Given the description of an element on the screen output the (x, y) to click on. 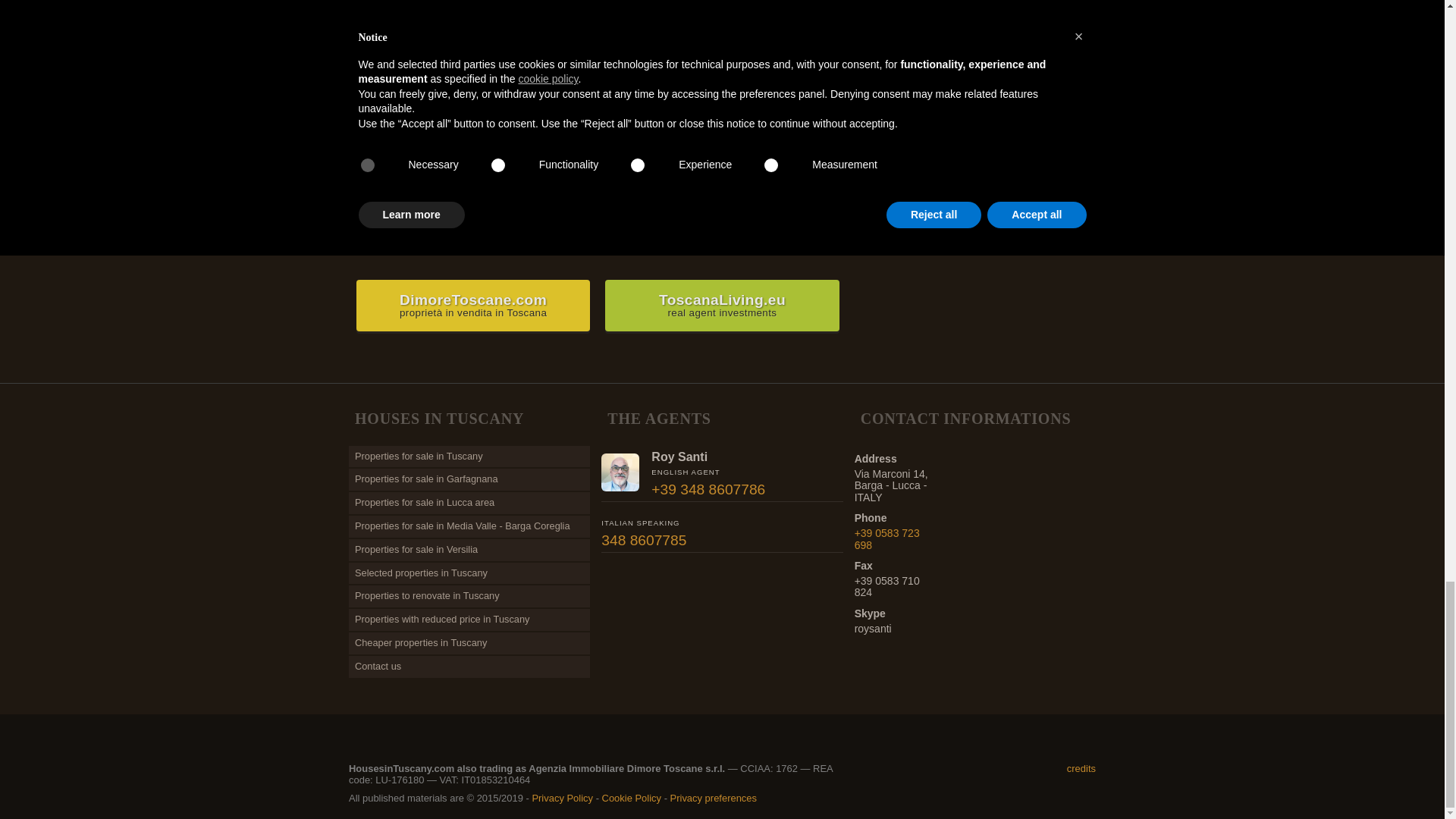
Selected properties in Tuscany (469, 573)
Cookie Policy  (631, 797)
credits (1081, 767)
Cheaper properties in Tuscany (469, 643)
Privacy preferences (713, 797)
Properties with reduced price in Tuscany (469, 619)
Properties for sale in Tuscany (469, 456)
348 8607785 (643, 539)
Properties for sale in Garfagnana (469, 479)
Contact us (469, 667)
Properties for sale in Lucca area (469, 503)
Privacy Policy (561, 797)
Cookie Policy (631, 797)
Roy Santi - Real Estate Agent (620, 472)
